Given the description of an element on the screen output the (x, y) to click on. 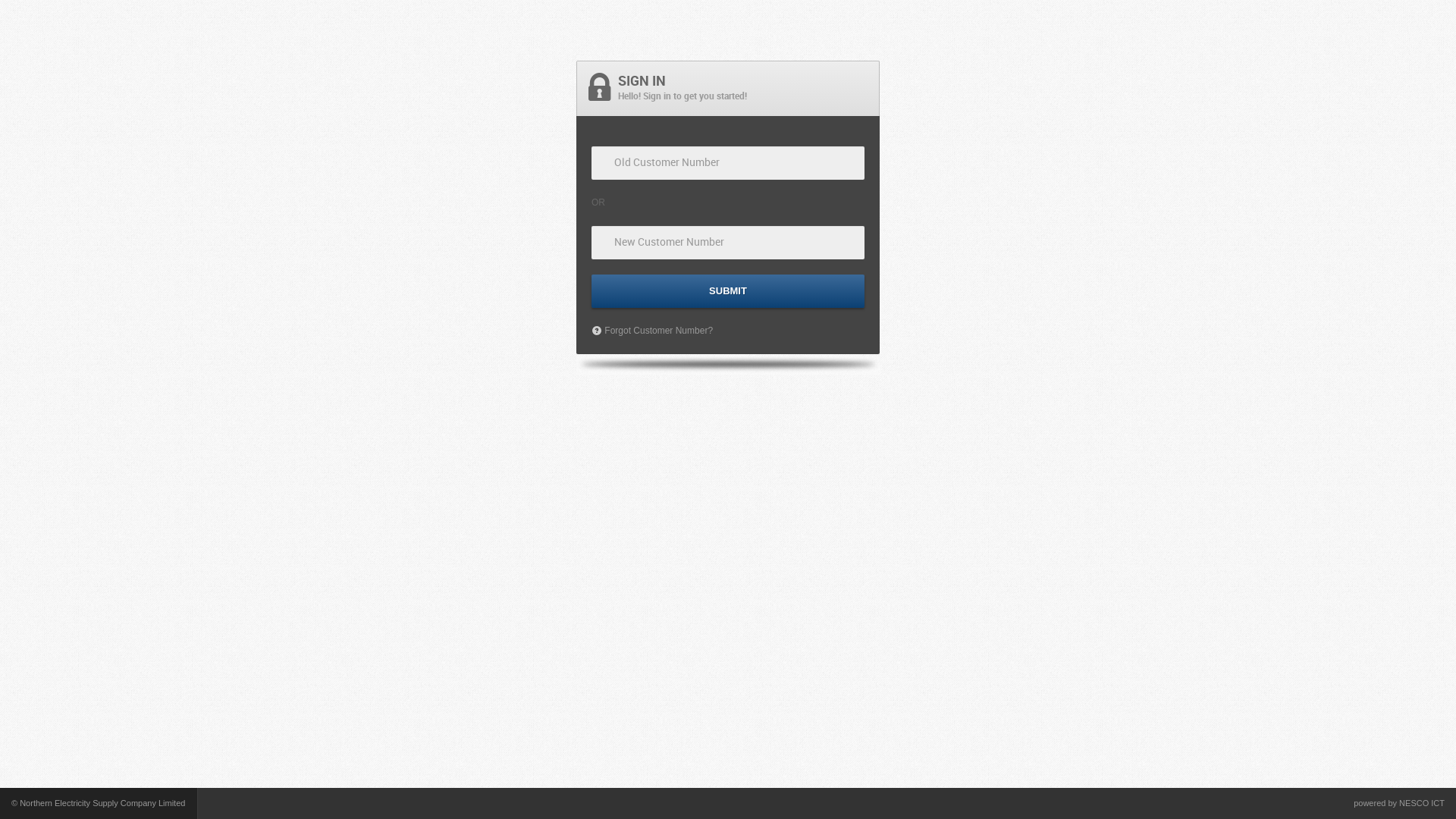
Forgot Customer Number? Element type: text (651, 330)
SUBMIT Element type: text (727, 290)
